Given the description of an element on the screen output the (x, y) to click on. 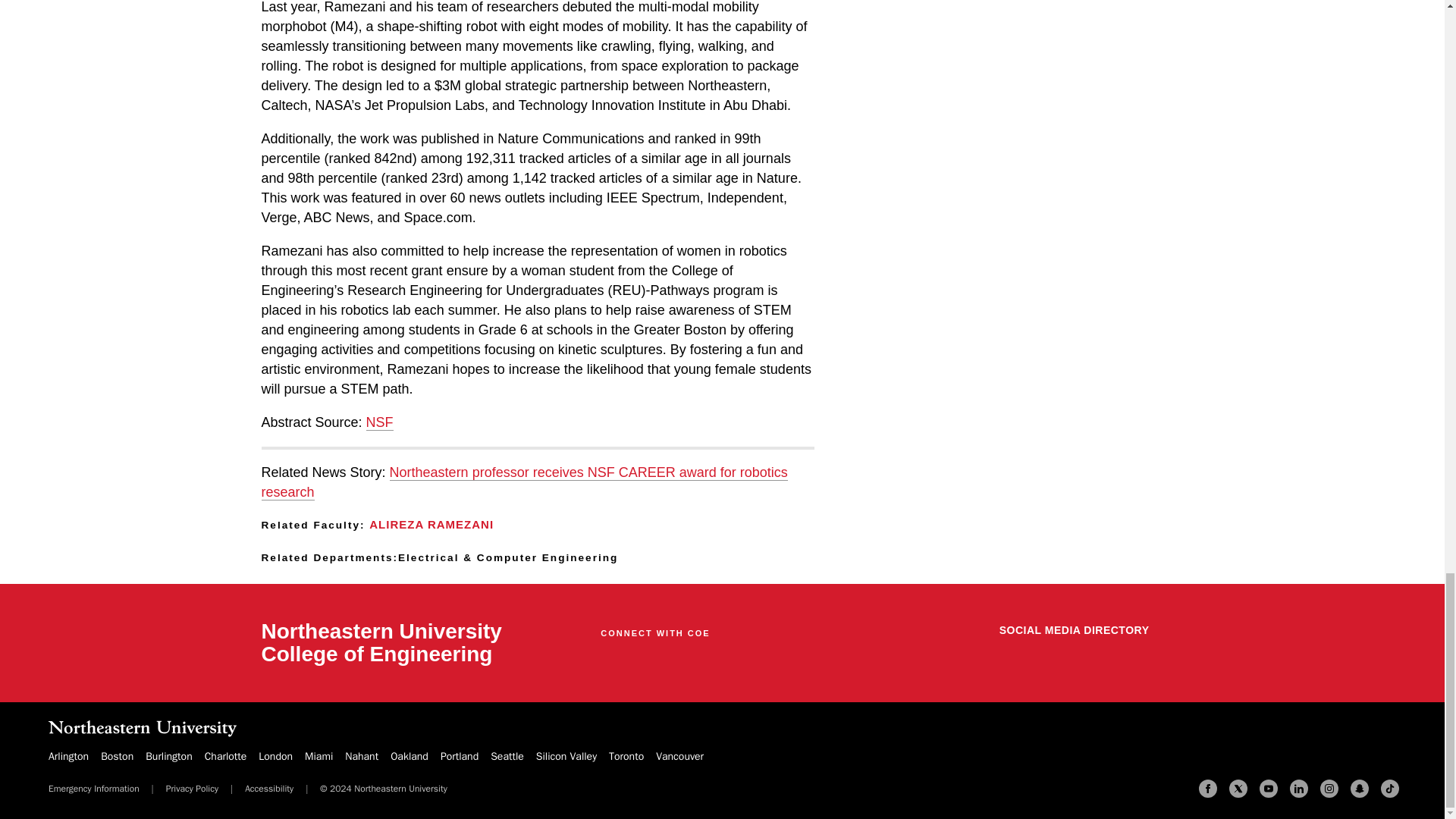
Facebook (1207, 788)
TikTok (1389, 788)
Snapchat (1359, 788)
YouTube (1268, 788)
Instagram (1329, 788)
Linkedin (1298, 788)
